Given the description of an element on the screen output the (x, y) to click on. 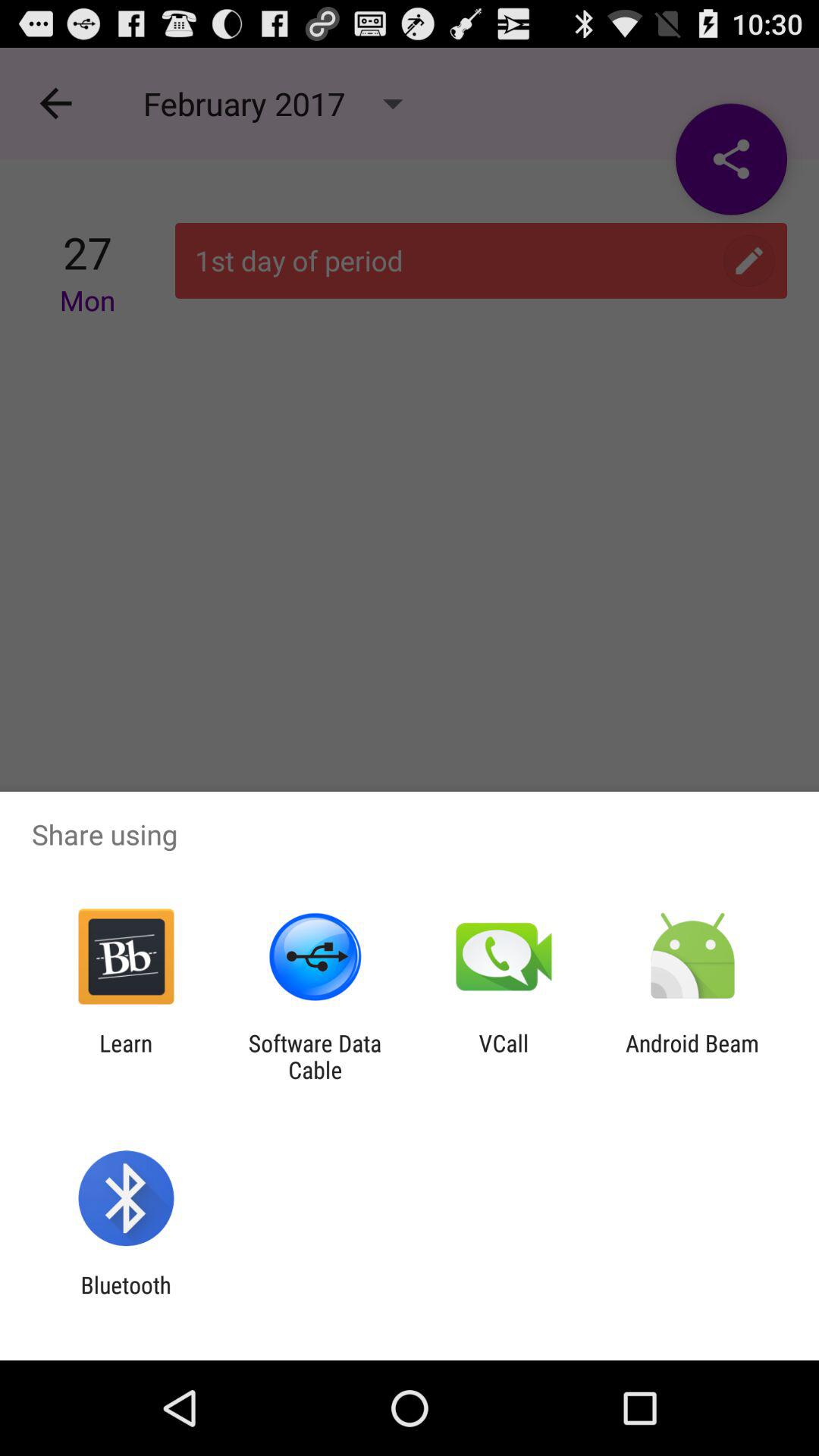
scroll until vcall item (503, 1056)
